Given the description of an element on the screen output the (x, y) to click on. 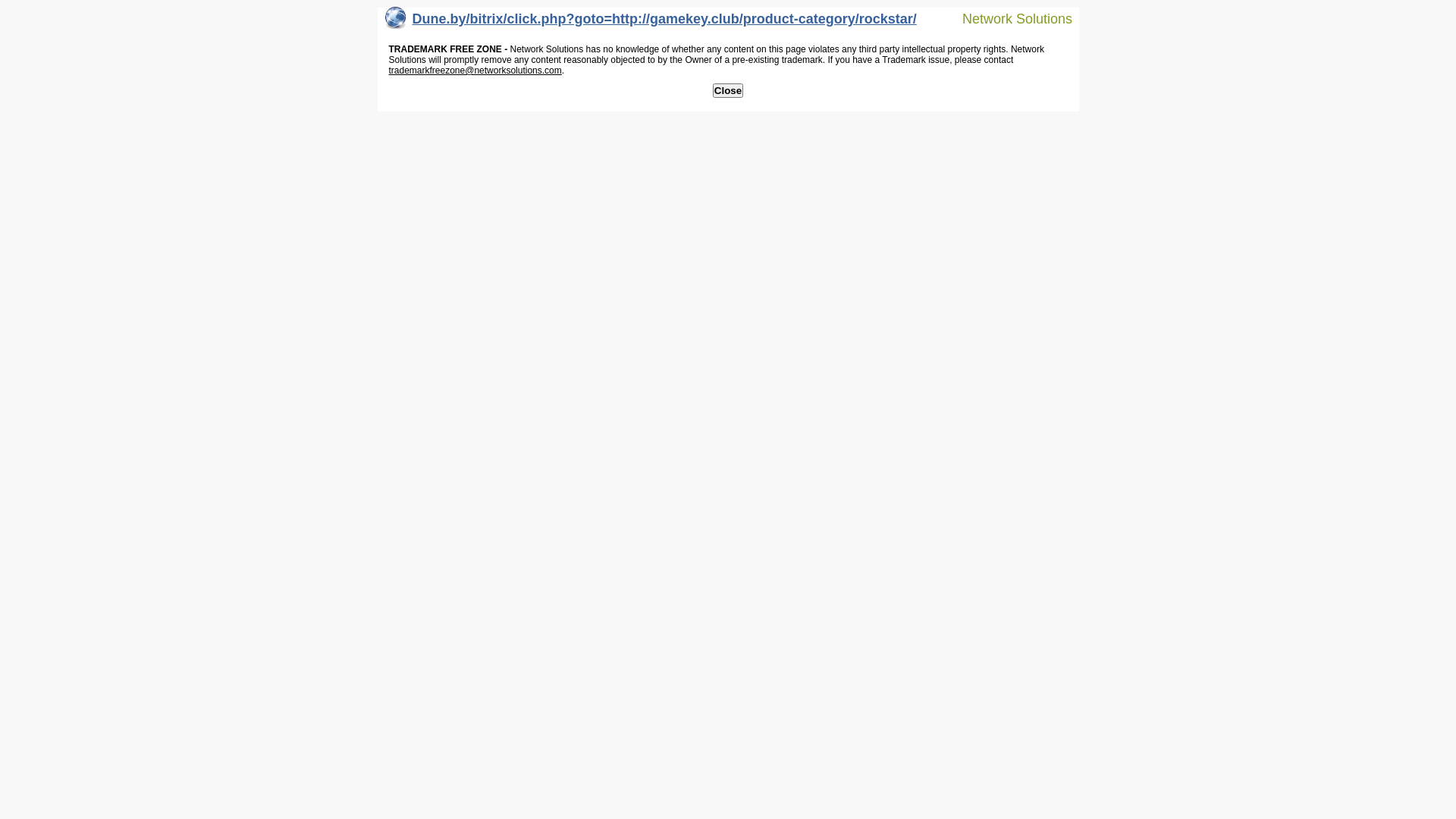
Network Solutions Element type: text (1007, 17)
trademarkfreezone@networksolutions.com Element type: text (474, 70)
Close Element type: text (727, 90)
